Given the description of an element on the screen output the (x, y) to click on. 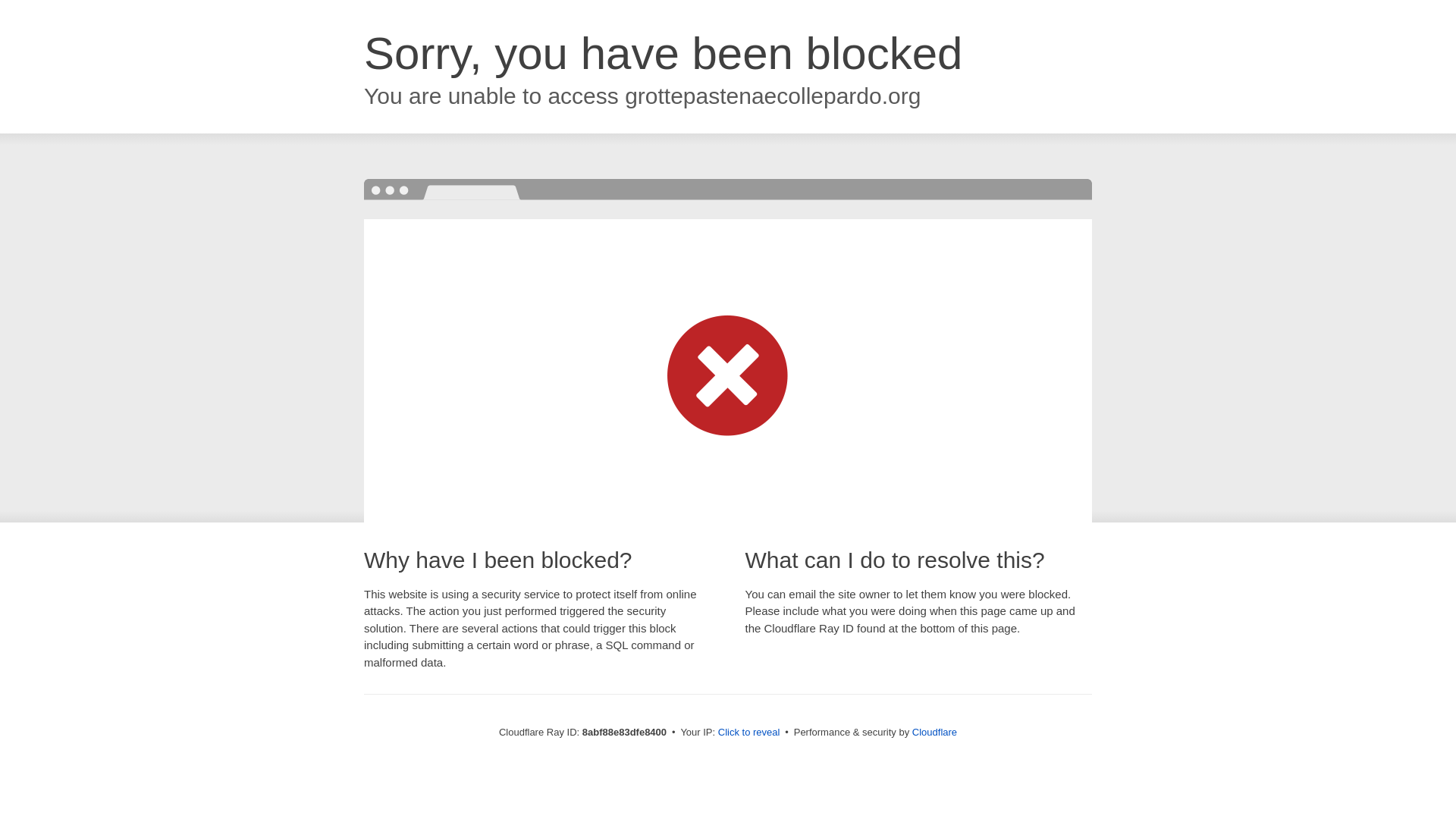
Click to reveal (748, 732)
Cloudflare (934, 731)
